Given the description of an element on the screen output the (x, y) to click on. 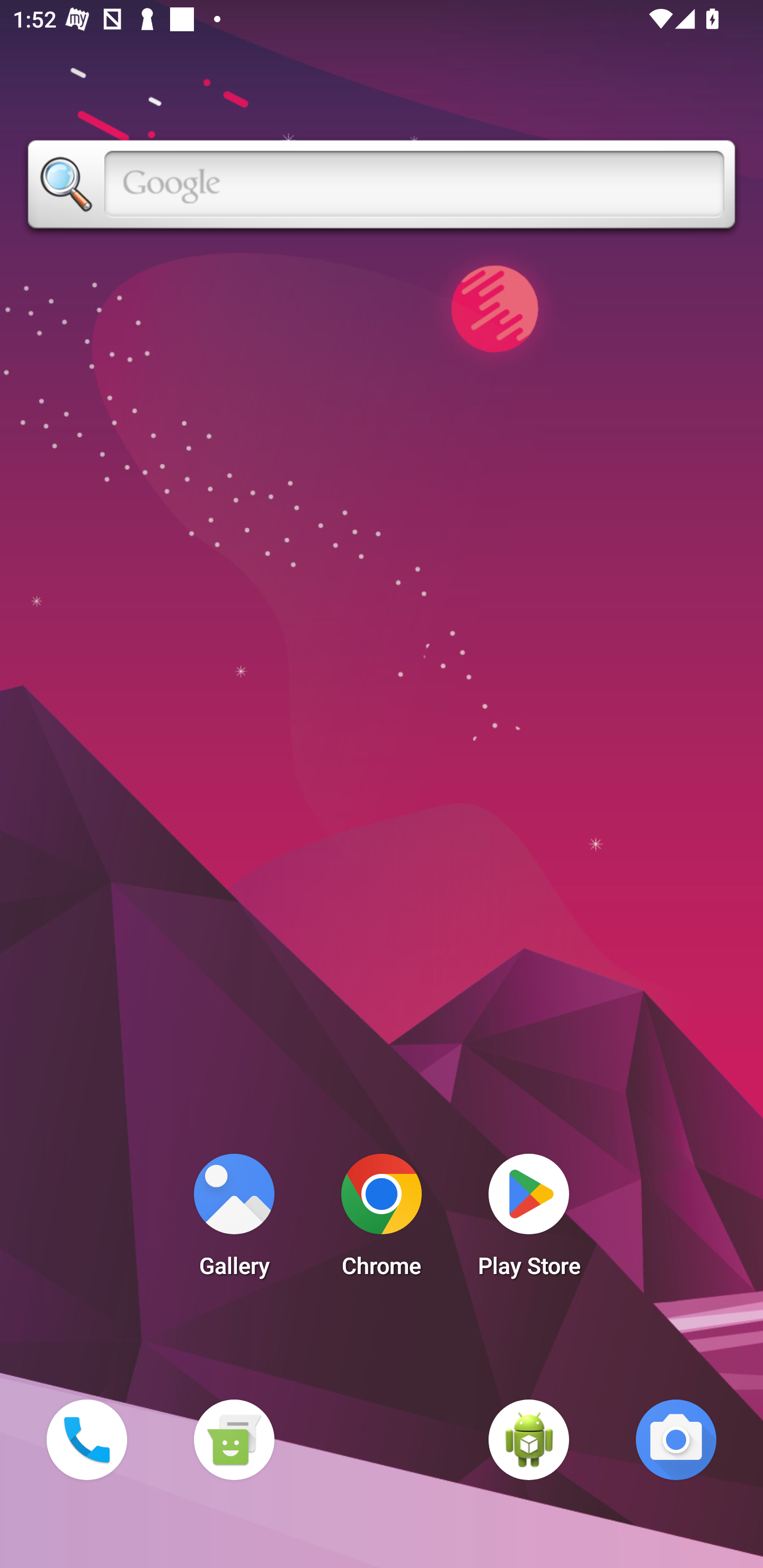
Gallery (233, 1220)
Chrome (381, 1220)
Play Store (528, 1220)
Phone (86, 1439)
Messaging (233, 1439)
WebView Browser Tester (528, 1439)
Camera (676, 1439)
